Given the description of an element on the screen output the (x, y) to click on. 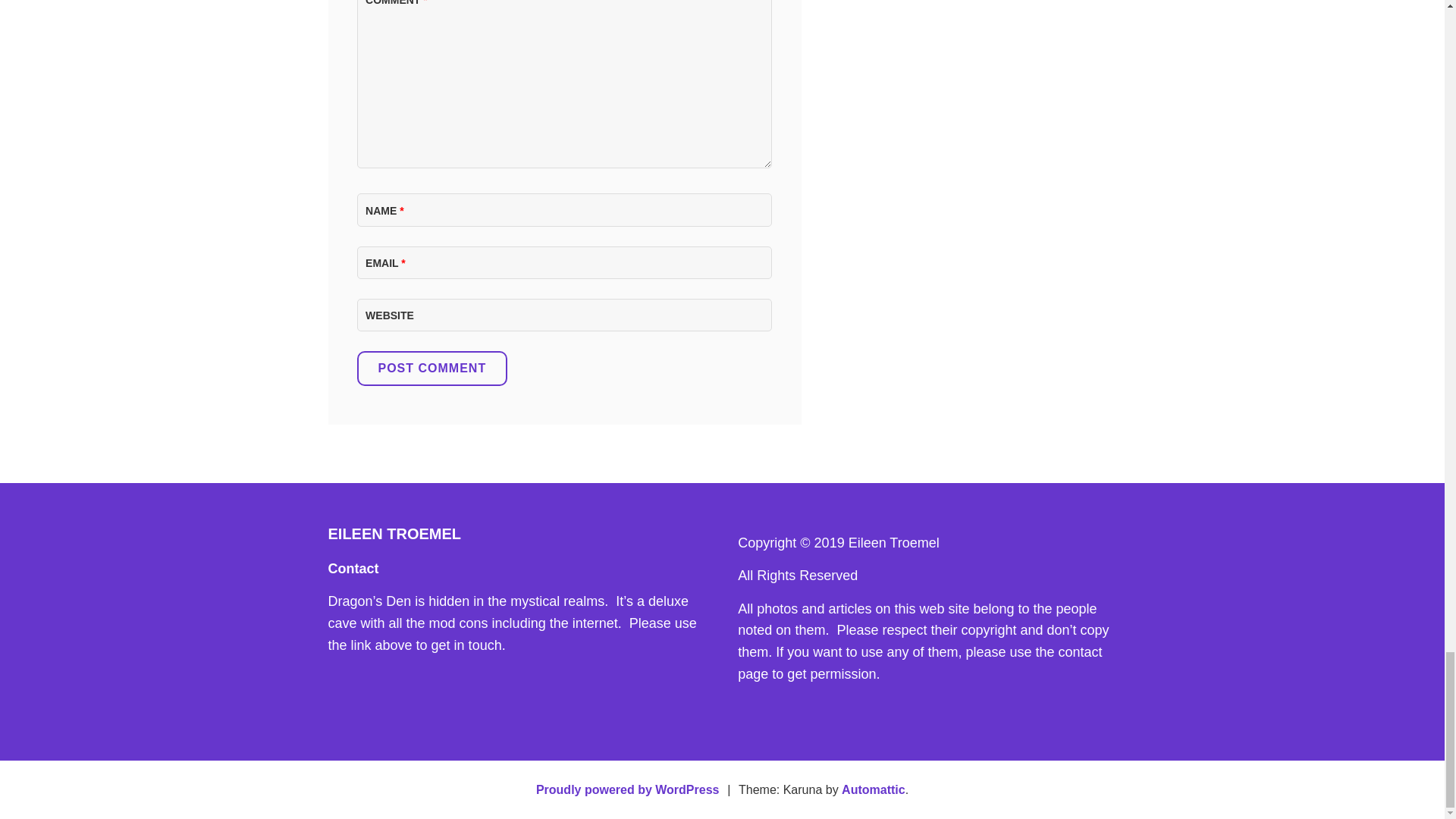
Post Comment (431, 368)
